Given the description of an element on the screen output the (x, y) to click on. 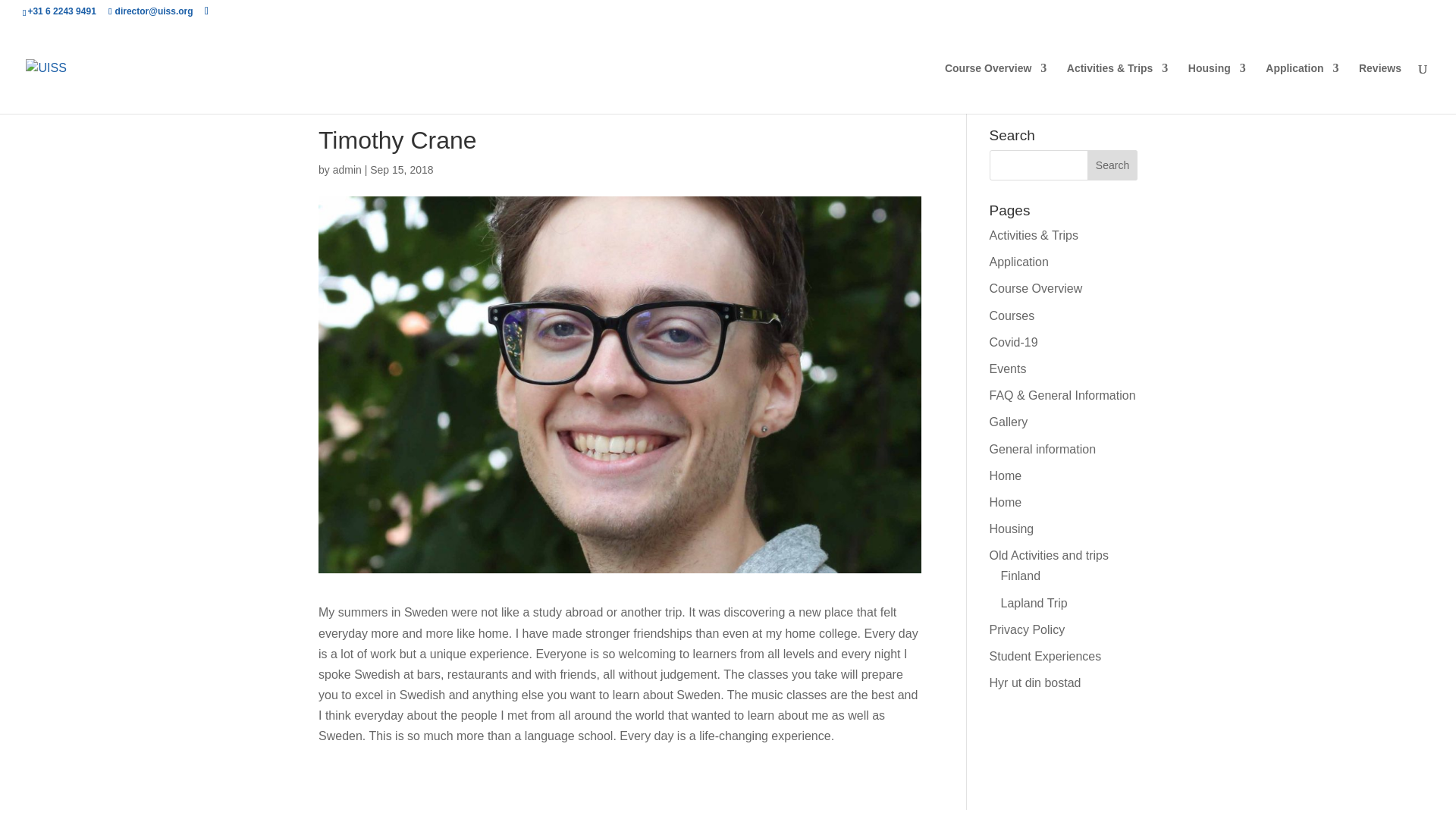
Courses (1012, 315)
Home (1006, 475)
Covid-19 (1014, 341)
Search (1112, 164)
Housing (1217, 88)
Reviews (1379, 88)
Application (1019, 261)
Search (1112, 164)
Course Overview (1036, 287)
admin (347, 169)
General information (1043, 449)
Gallery (1008, 421)
Application (1301, 88)
Posts by admin (347, 169)
Course Overview (995, 88)
